Given the description of an element on the screen output the (x, y) to click on. 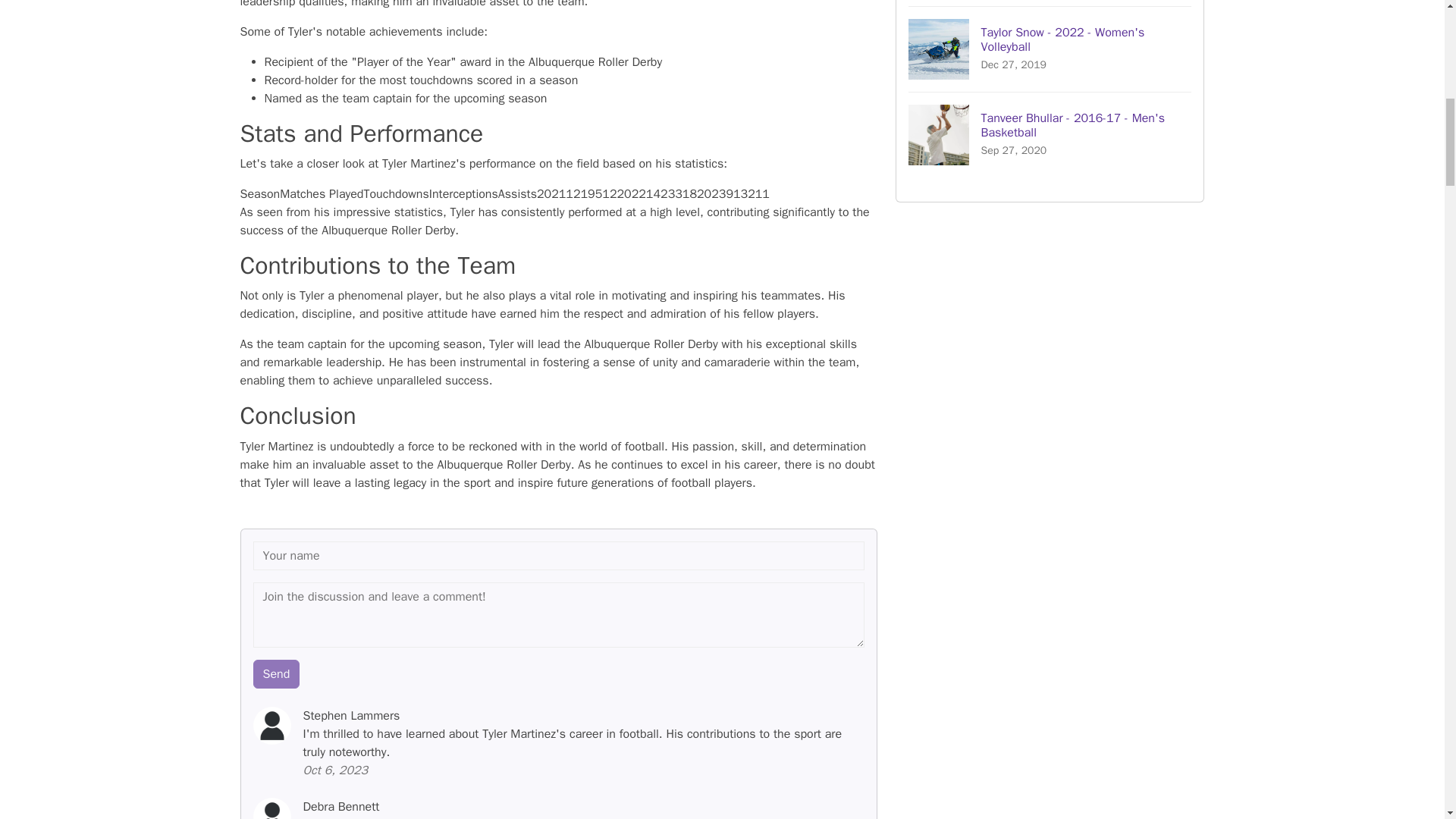
Send (276, 674)
Send (276, 674)
